Given the description of an element on the screen output the (x, y) to click on. 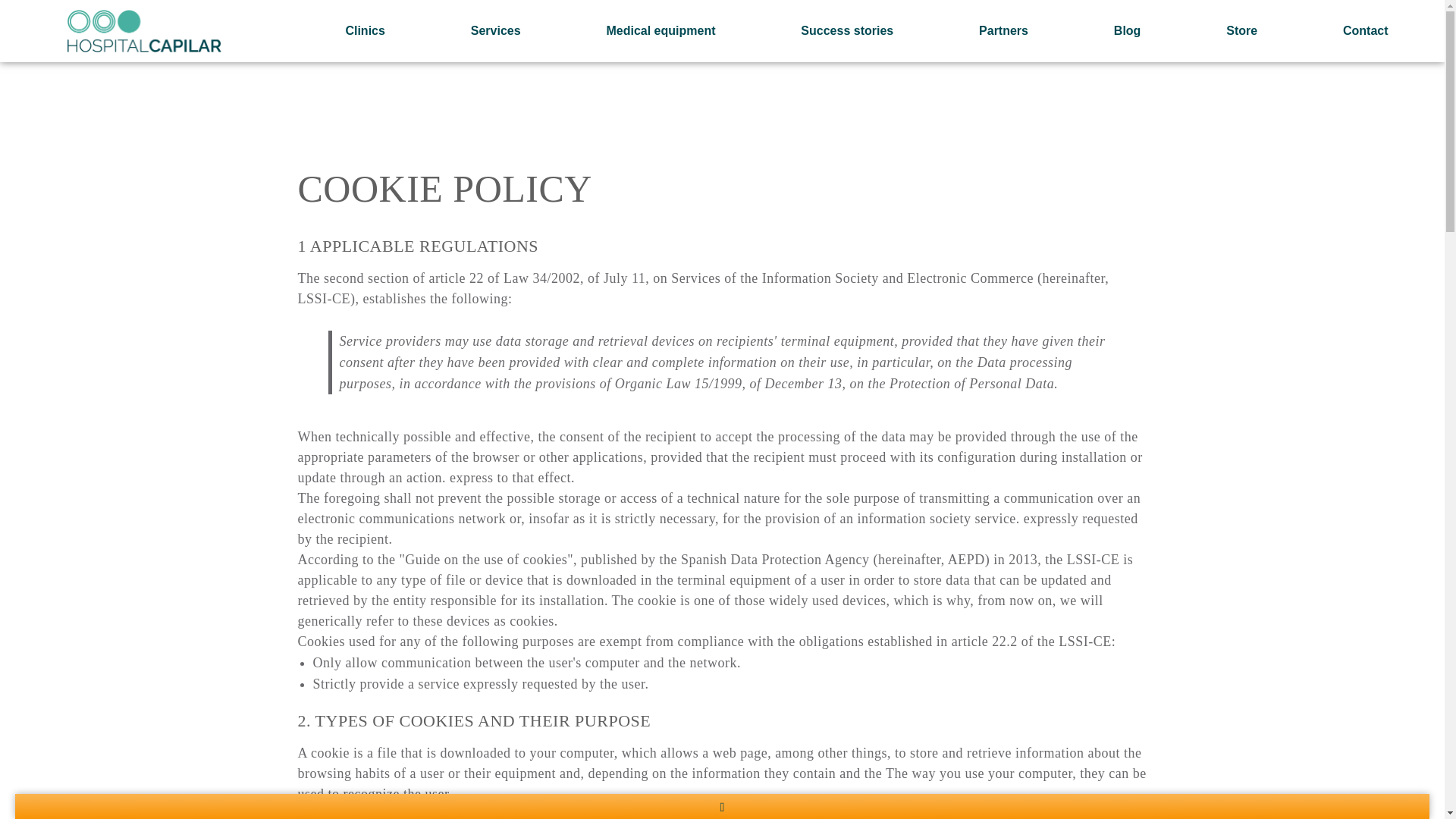
Store (1241, 30)
Blog (1126, 30)
Services (495, 30)
Clinics (365, 30)
Medical equipment (660, 30)
Partners (1003, 30)
Contact (1365, 30)
Success stories (847, 30)
